Given the description of an element on the screen output the (x, y) to click on. 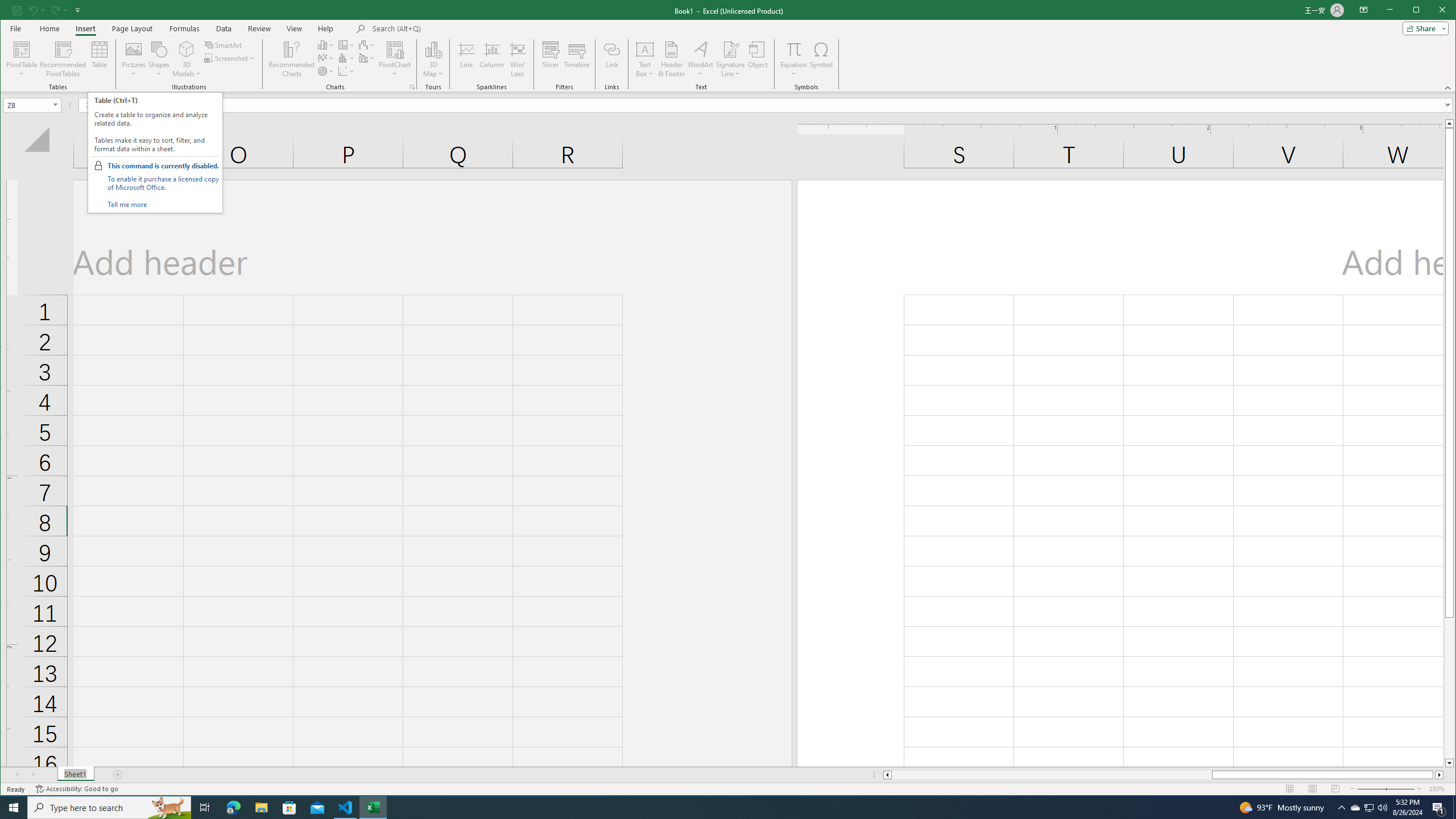
3D Map (432, 48)
Sheet Tab (75, 774)
Insert Combo Chart (366, 57)
PivotChart (394, 48)
Microsoft search (451, 28)
Show desktop (1454, 807)
Shapes (159, 59)
3D Models (186, 59)
